Given the description of an element on the screen output the (x, y) to click on. 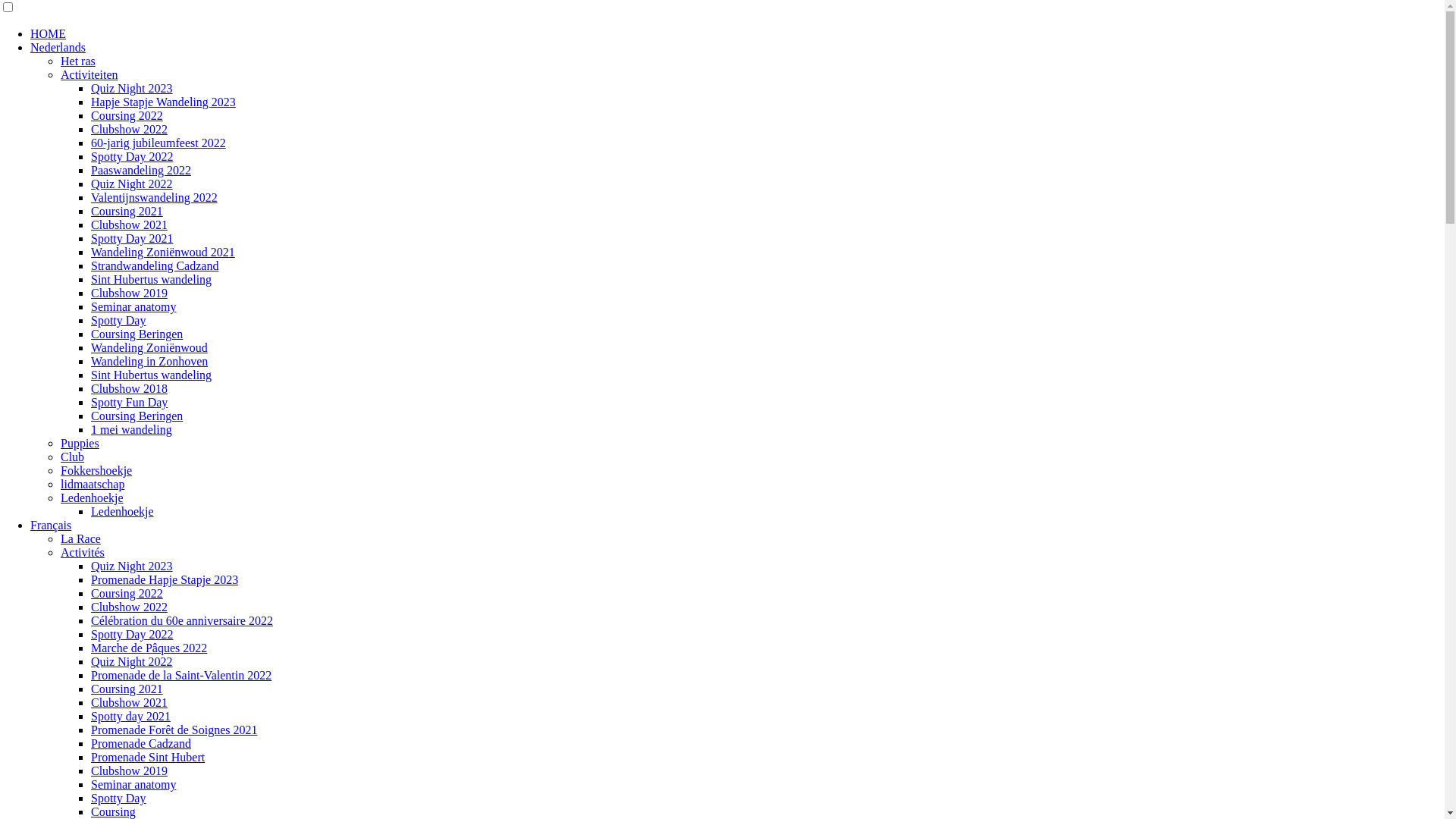
Coursing Element type: text (113, 811)
Ledenhoekje Element type: text (122, 511)
Het ras Element type: text (77, 60)
La Race Element type: text (80, 538)
Coursing Beringen Element type: text (136, 333)
Clubshow 2021 Element type: text (129, 702)
Spotty Day Element type: text (118, 797)
Quiz Night 2022 Element type: text (131, 183)
Club Element type: text (72, 456)
Spotty day 2021 Element type: text (130, 715)
Promenade Hapje Stapje 2023 Element type: text (164, 579)
Nederlands Element type: text (57, 46)
HOME Element type: text (47, 33)
Coursing 2021 Element type: text (127, 210)
Clubshow 2019 Element type: text (129, 292)
Sint Hubertus wandeling Element type: text (151, 279)
Coursing 2022 Element type: text (127, 592)
Paaswandeling 2022 Element type: text (141, 169)
Spotty Day 2021 Element type: text (131, 238)
Quiz Night 2023 Element type: text (131, 565)
Ledenhoekje Element type: text (91, 497)
Coursing 2021 Element type: text (127, 688)
Sint Hubertus wandeling Element type: text (151, 374)
Spotty Day Element type: text (118, 319)
Quiz Night 2023 Element type: text (131, 87)
Seminar anatomy Element type: text (133, 306)
Puppies Element type: text (79, 442)
Seminar anatomy Element type: text (133, 784)
Clubshow 2018 Element type: text (129, 388)
Coursing Beringen Element type: text (136, 415)
Clubshow 2022 Element type: text (129, 128)
Clubshow 2022 Element type: text (129, 606)
Clubshow 2019 Element type: text (129, 770)
Activiteiten Element type: text (89, 74)
Coursing 2022 Element type: text (127, 115)
Fokkershoekje Element type: text (95, 470)
Spotty Day 2022 Element type: text (131, 156)
Promenade de la Saint-Valentin 2022 Element type: text (181, 674)
Promenade Sint Hubert Element type: text (147, 756)
60-jarig jubileumfeest 2022 Element type: text (158, 142)
lidmaatschap Element type: text (92, 483)
Hapje Stapje Wandeling 2023 Element type: text (163, 101)
Wandeling in Zonhoven Element type: text (149, 360)
Spotty Fun Day Element type: text (129, 401)
Valentijnswandeling 2022 Element type: text (154, 197)
Spotty Day 2022 Element type: text (131, 633)
1 mei wandeling Element type: text (131, 429)
Clubshow 2021 Element type: text (129, 224)
Promenade Cadzand Element type: text (141, 743)
Strandwandeling Cadzand Element type: text (154, 265)
Quiz Night 2022 Element type: text (131, 661)
